Given the description of an element on the screen output the (x, y) to click on. 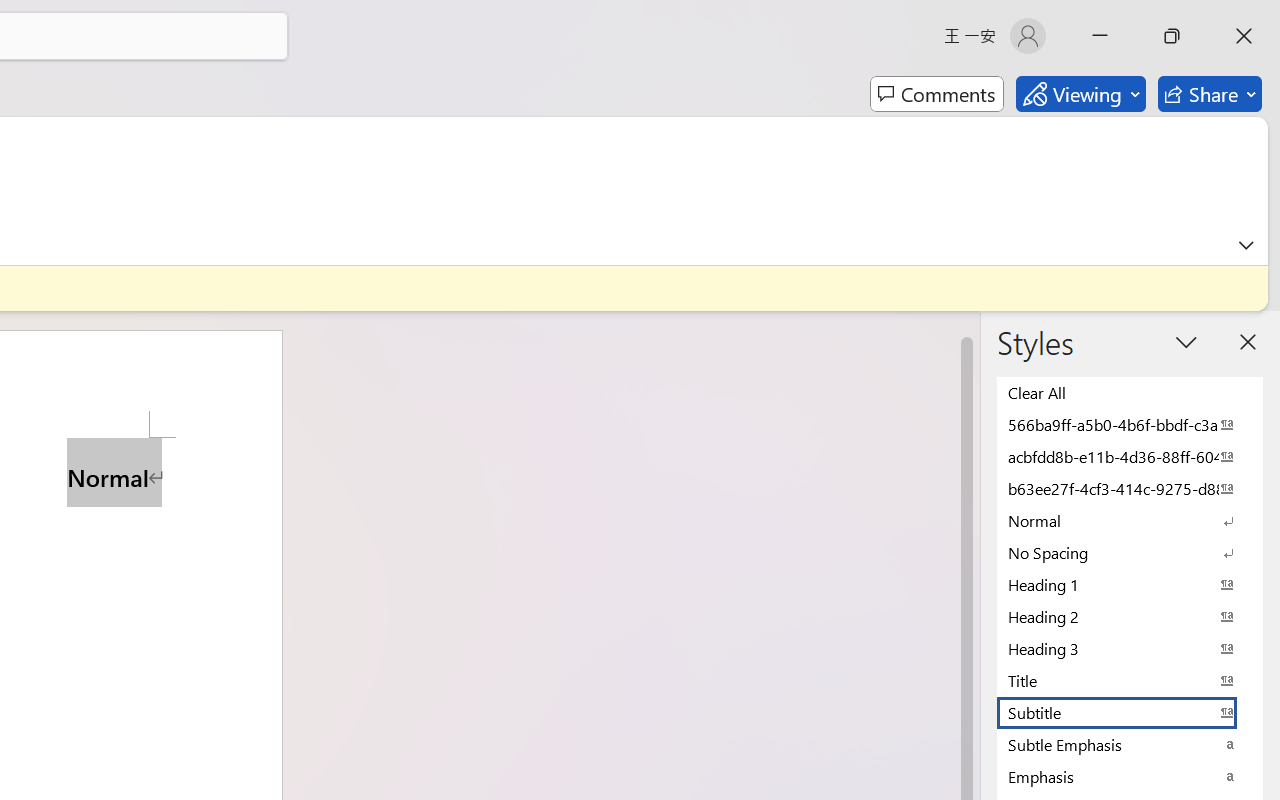
b63ee27f-4cf3-414c-9275-d88e3f90795e (1130, 488)
Normal (1130, 520)
Emphasis (1130, 776)
Mode (1080, 94)
Clear All (1130, 392)
